Given the description of an element on the screen output the (x, y) to click on. 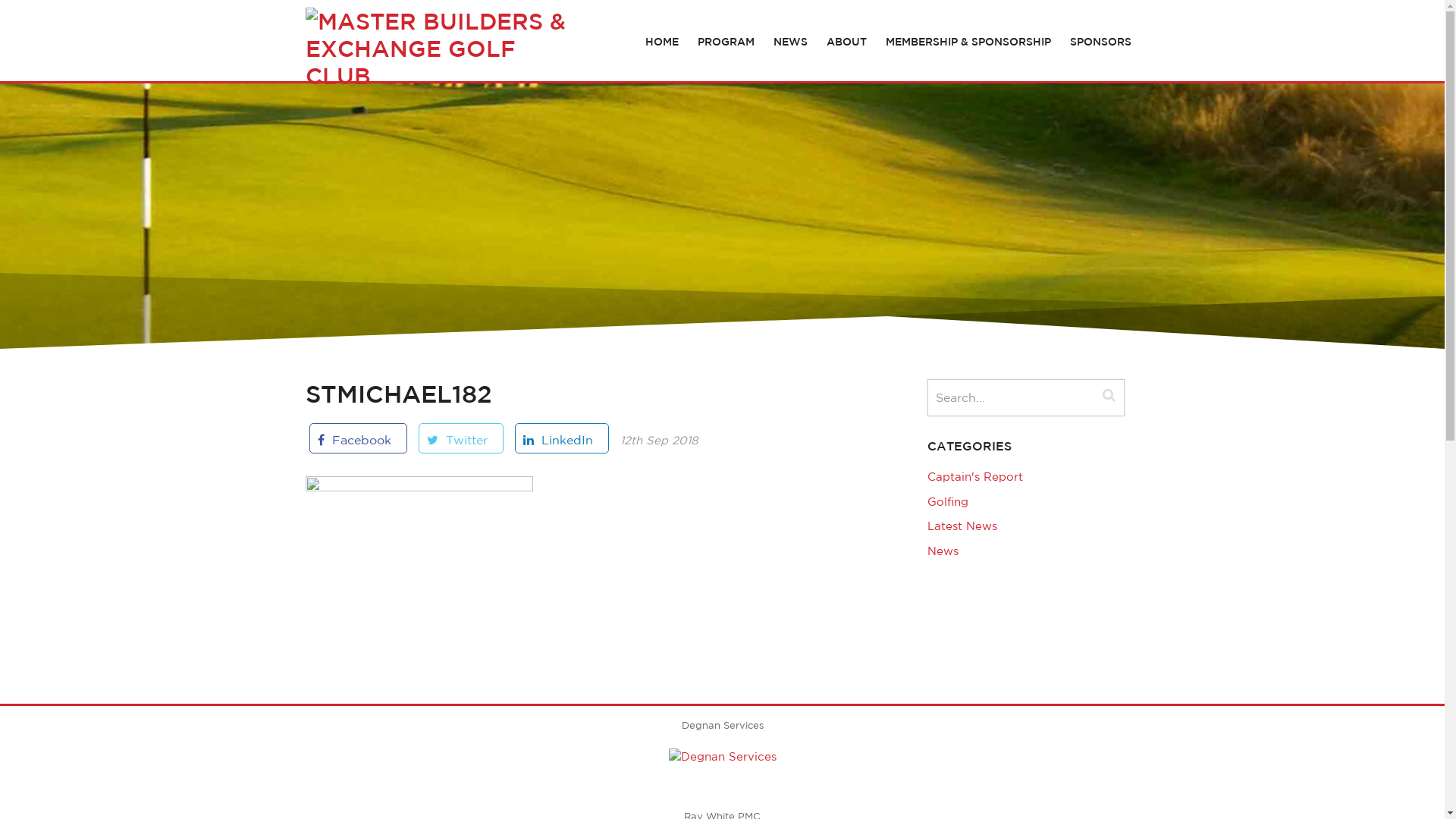
PROGRAM Element type: text (726, 41)
LinkedIn Element type: text (561, 438)
HOME Element type: text (661, 41)
NEWS Element type: text (790, 41)
SPONSORS Element type: text (1100, 41)
ABOUT Element type: text (846, 41)
News Element type: text (941, 550)
Facebook Element type: text (358, 438)
MEMBERSHIP & SPONSORSHIP Element type: text (968, 41)
Latest News Element type: text (961, 525)
Captain's Report Element type: text (974, 476)
Twitter Element type: text (460, 438)
Golfing Element type: text (946, 501)
